Given the description of an element on the screen output the (x, y) to click on. 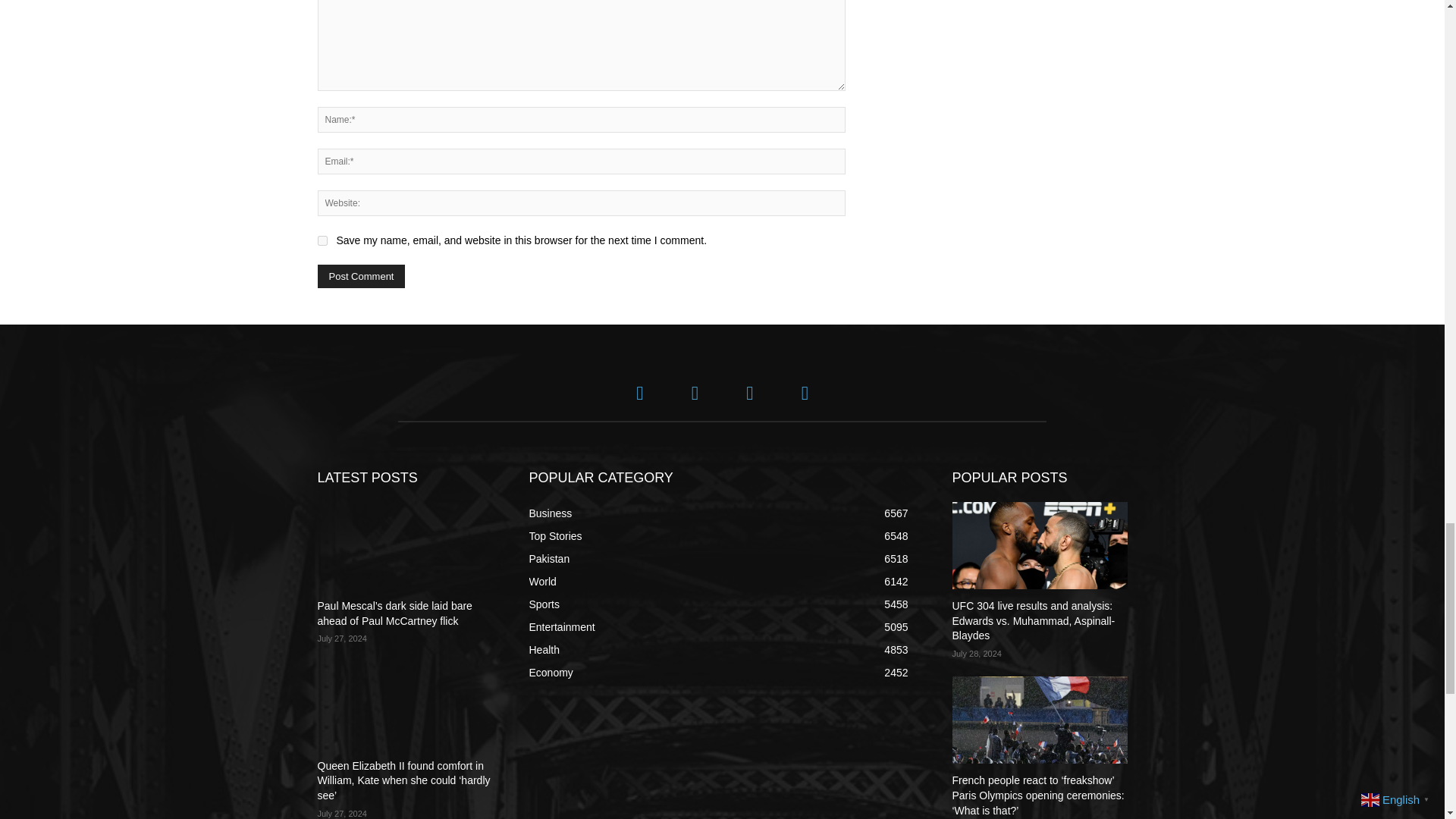
Post Comment (360, 276)
yes (321, 240)
